Given the description of an element on the screen output the (x, y) to click on. 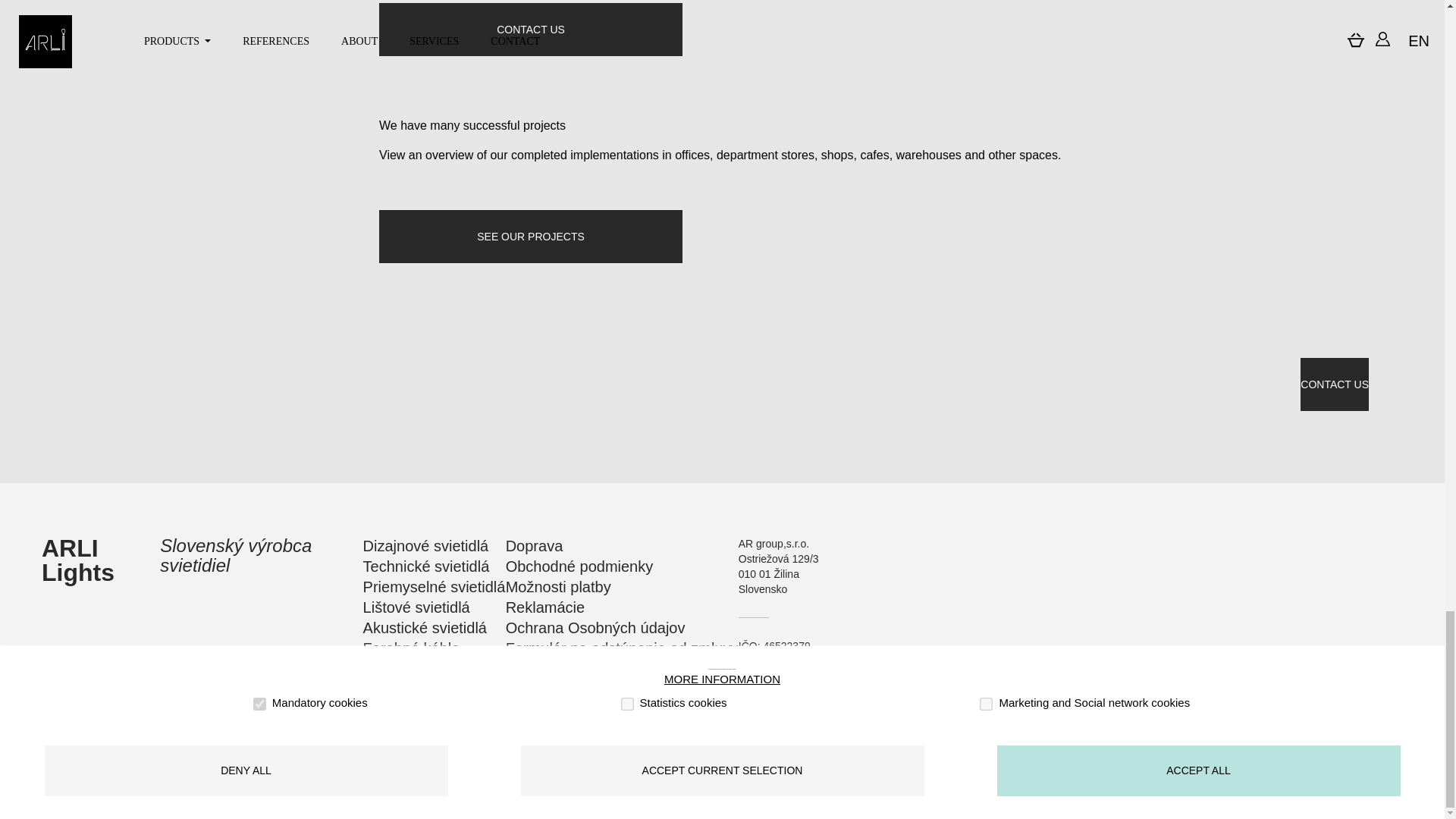
CONTACT US (530, 29)
CONTACT US (1334, 384)
SEE OUR PROJECTS (530, 235)
